Given the description of an element on the screen output the (x, y) to click on. 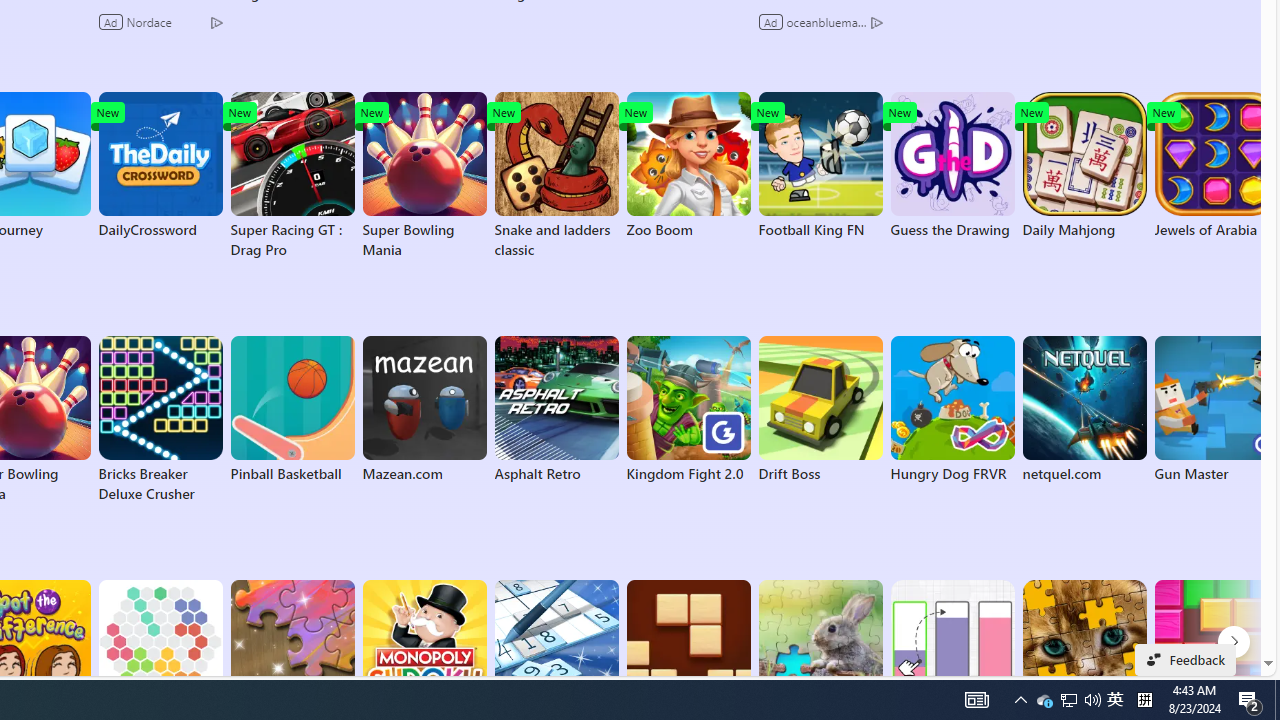
Jewels of Arabia (1216, 165)
Daily Mahjong (1115, 699)
DailyCrossword (1083, 165)
Zoo Boom (160, 165)
Pinball Basketball (688, 165)
Mazean.com (292, 409)
Super Bowling Mania (424, 409)
Super Racing GT : Drag Pro (1044, 699)
Hungry Dog FRVR (424, 175)
Snake and ladders classic (292, 175)
